Given the description of an element on the screen output the (x, y) to click on. 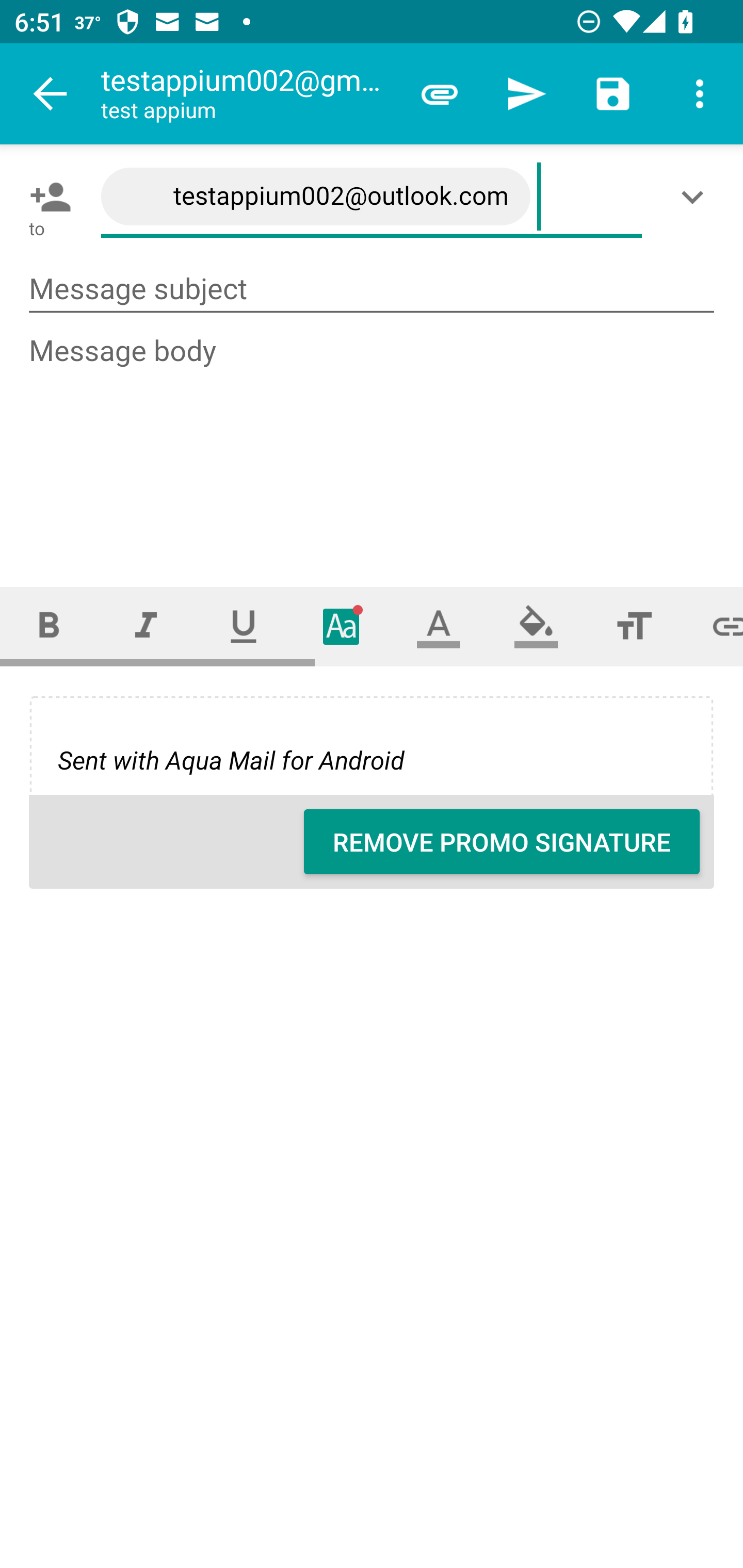
Navigate up (50, 93)
testappium002@gmail.com test appium (248, 93)
Attach (439, 93)
Send (525, 93)
Save (612, 93)
More options (699, 93)
testappium002@outlook.com,  (371, 197)
Pick contact: To (46, 196)
Show/Add CC/BCC (696, 196)
Message subject (371, 288)
Message body (372, 442)
Bold (48, 626)
Italic (145, 626)
Underline (243, 626)
Typeface (font) (341, 626)
Text color (438, 626)
Fill color (536, 626)
Font size (633, 626)
REMOVE PROMO SIGNATURE (501, 841)
